Given the description of an element on the screen output the (x, y) to click on. 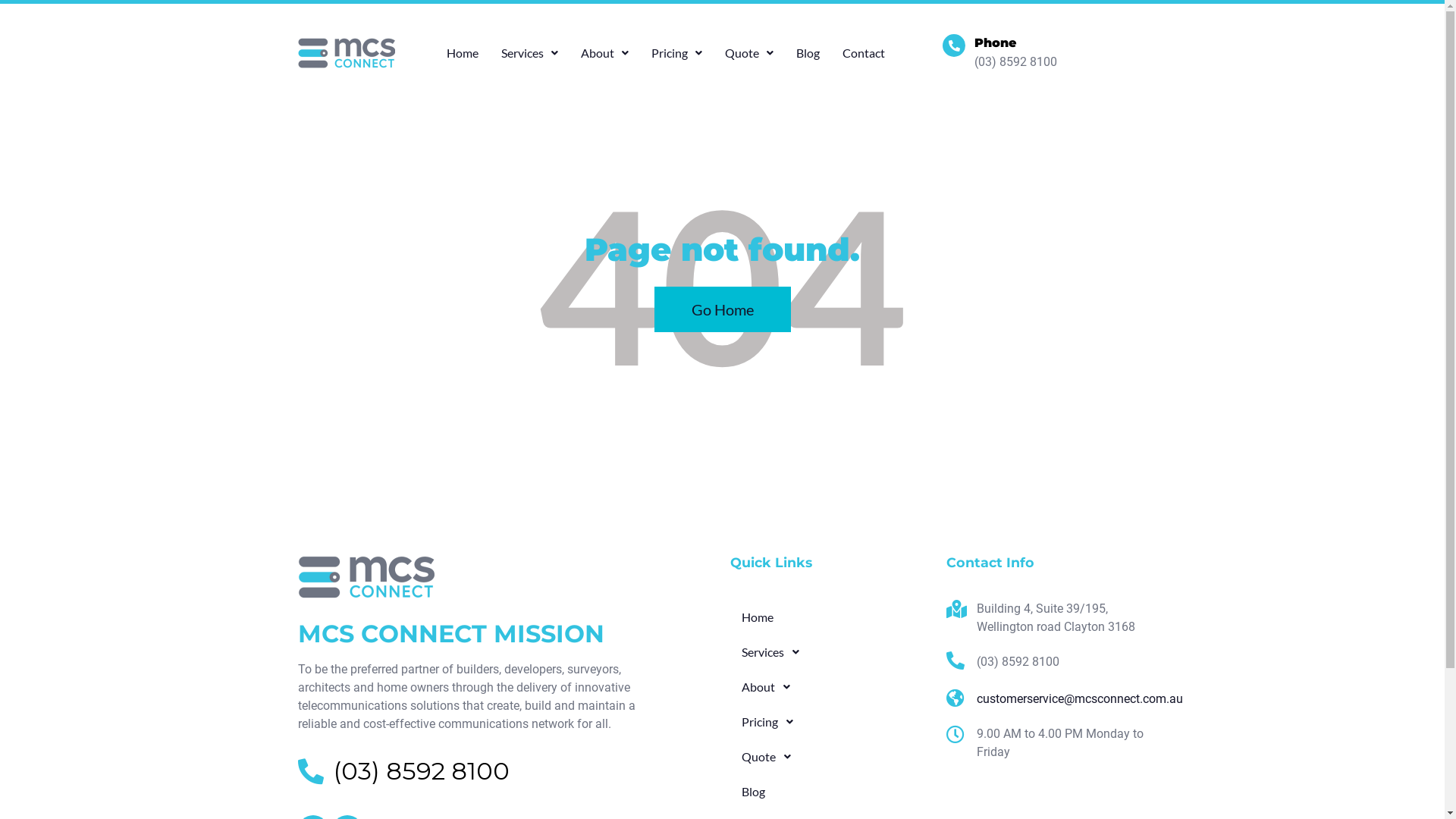
Blog Element type: text (807, 52)
customerservice@mcsconnect.com.au Element type: text (1046, 698)
Services Element type: text (529, 52)
Pricing Element type: text (829, 721)
Blog Element type: text (829, 791)
logo-mcs Element type: hover (365, 576)
Services Element type: text (829, 651)
Quote Element type: text (829, 756)
Home Element type: text (462, 52)
Home Element type: text (829, 616)
Contact Element type: text (863, 52)
Go Home Element type: text (721, 309)
Pricing Element type: text (676, 52)
Quote Element type: text (748, 52)
logo-mcs Element type: hover (345, 52)
About Element type: text (829, 686)
About Element type: text (604, 52)
